Given the description of an element on the screen output the (x, y) to click on. 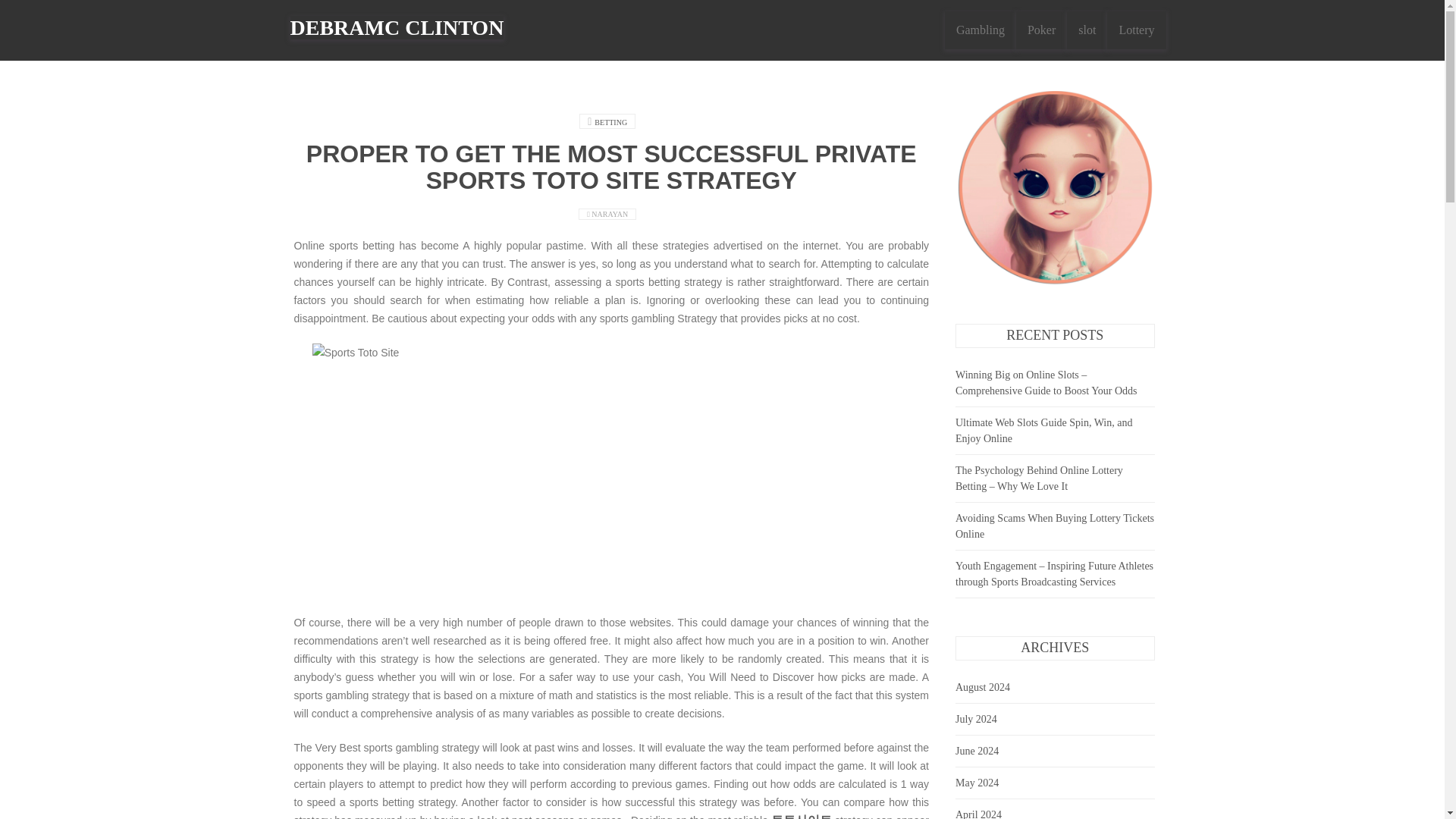
June 2024 (976, 750)
Avoiding Scams When Buying Lottery Tickets Online (1054, 525)
Gambling (980, 30)
Lottery (1136, 30)
BETTING (610, 121)
DEBRAMC CLINTON (396, 25)
slot (1086, 30)
August 2024 (982, 686)
April 2024 (978, 814)
DEBRAMC CLINTON (396, 27)
